Given the description of an element on the screen output the (x, y) to click on. 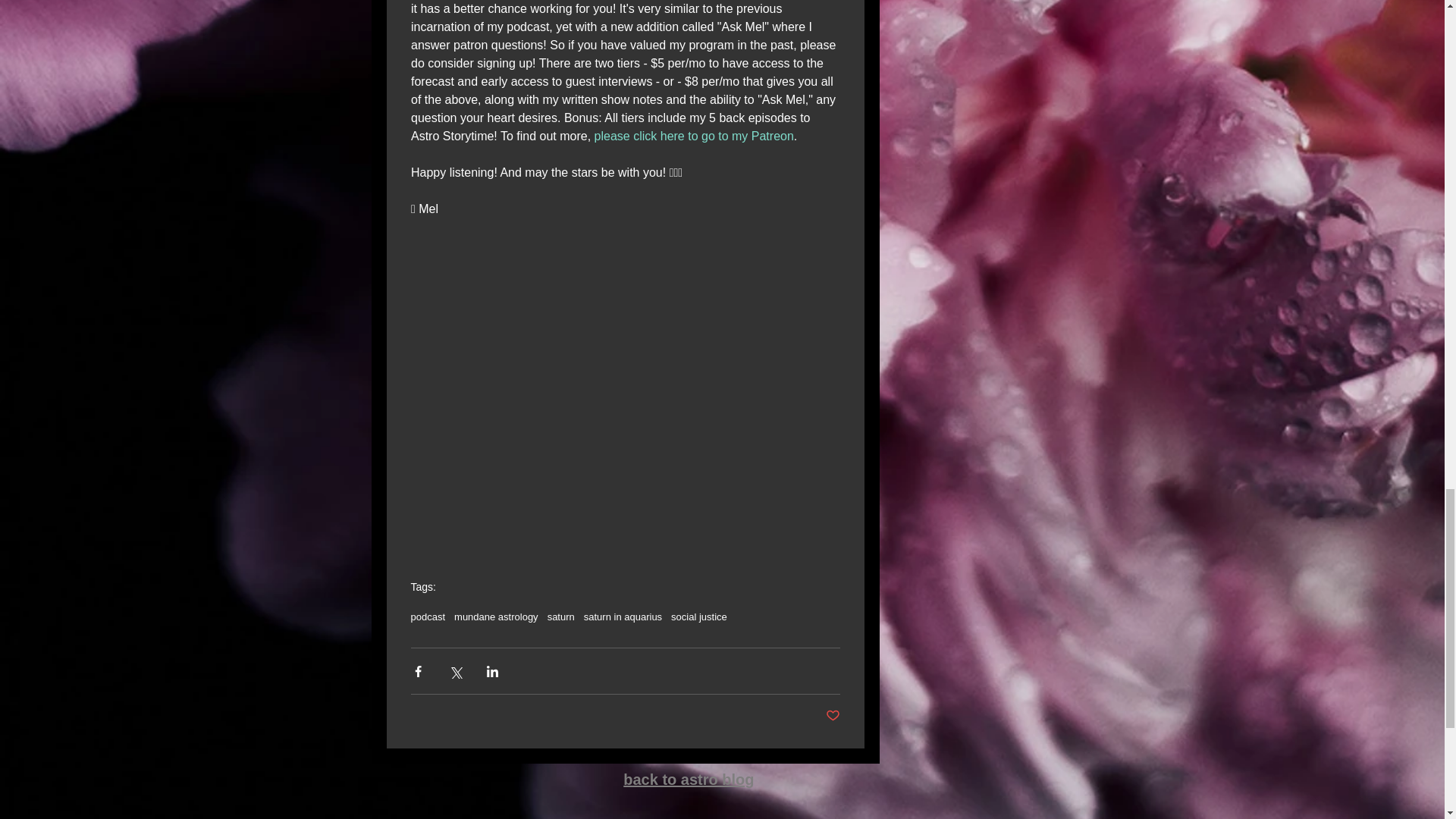
please click here to go to my Patreon (693, 135)
saturn (561, 616)
saturn in aquarius (622, 616)
Post not marked as liked (832, 715)
social justice (698, 616)
mundane astrology (496, 616)
podcast (427, 616)
